Given the description of an element on the screen output the (x, y) to click on. 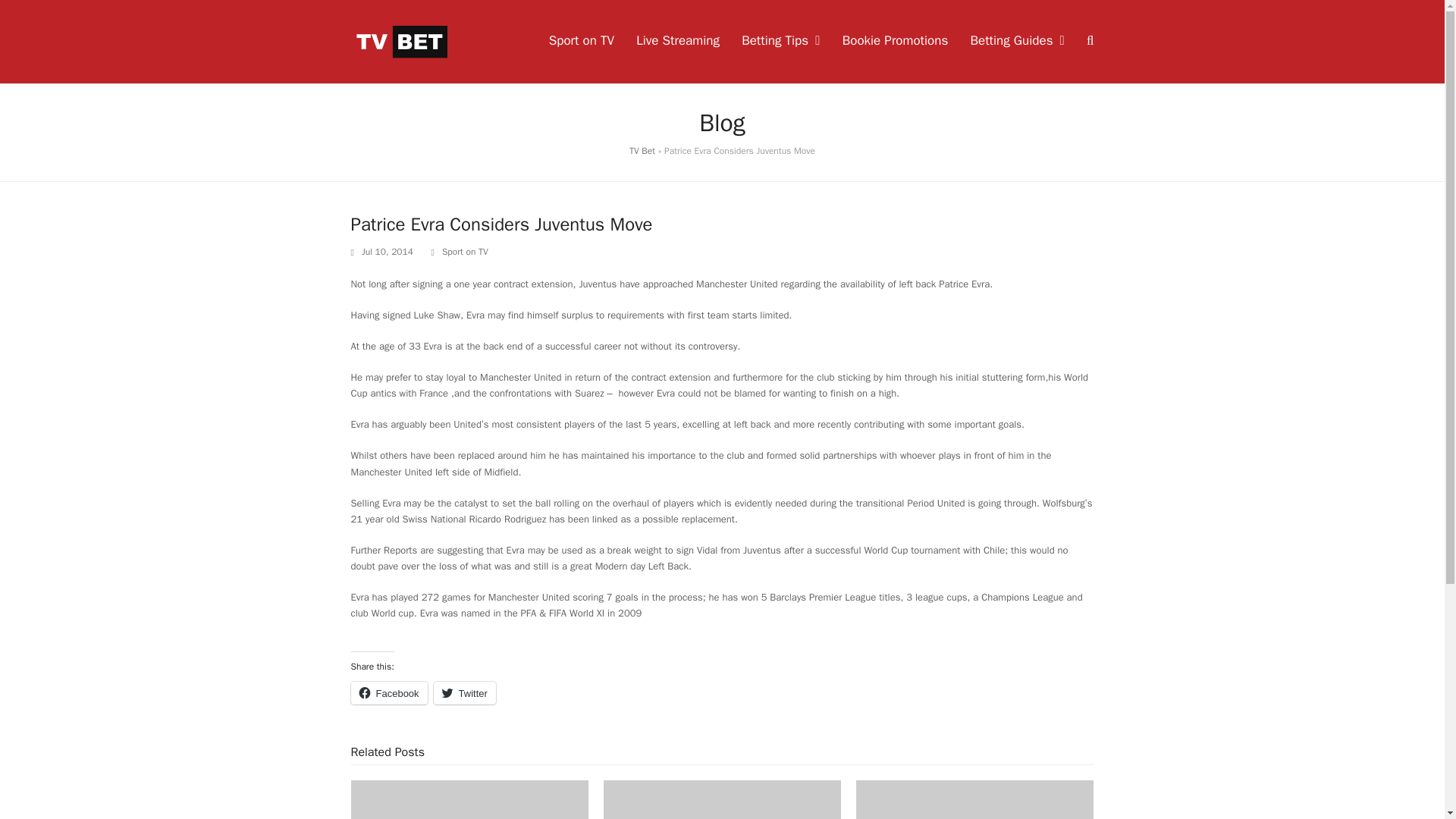
Sport on TV (581, 41)
Click to share on Twitter (464, 692)
TV Bet (641, 150)
Twitter (464, 692)
Betting Guides (1016, 41)
Bookie Promotions (896, 41)
Betting Tips (780, 41)
Live Streaming (677, 41)
Click to share on Facebook (388, 692)
Sport on TV (464, 251)
